Given the description of an element on the screen output the (x, y) to click on. 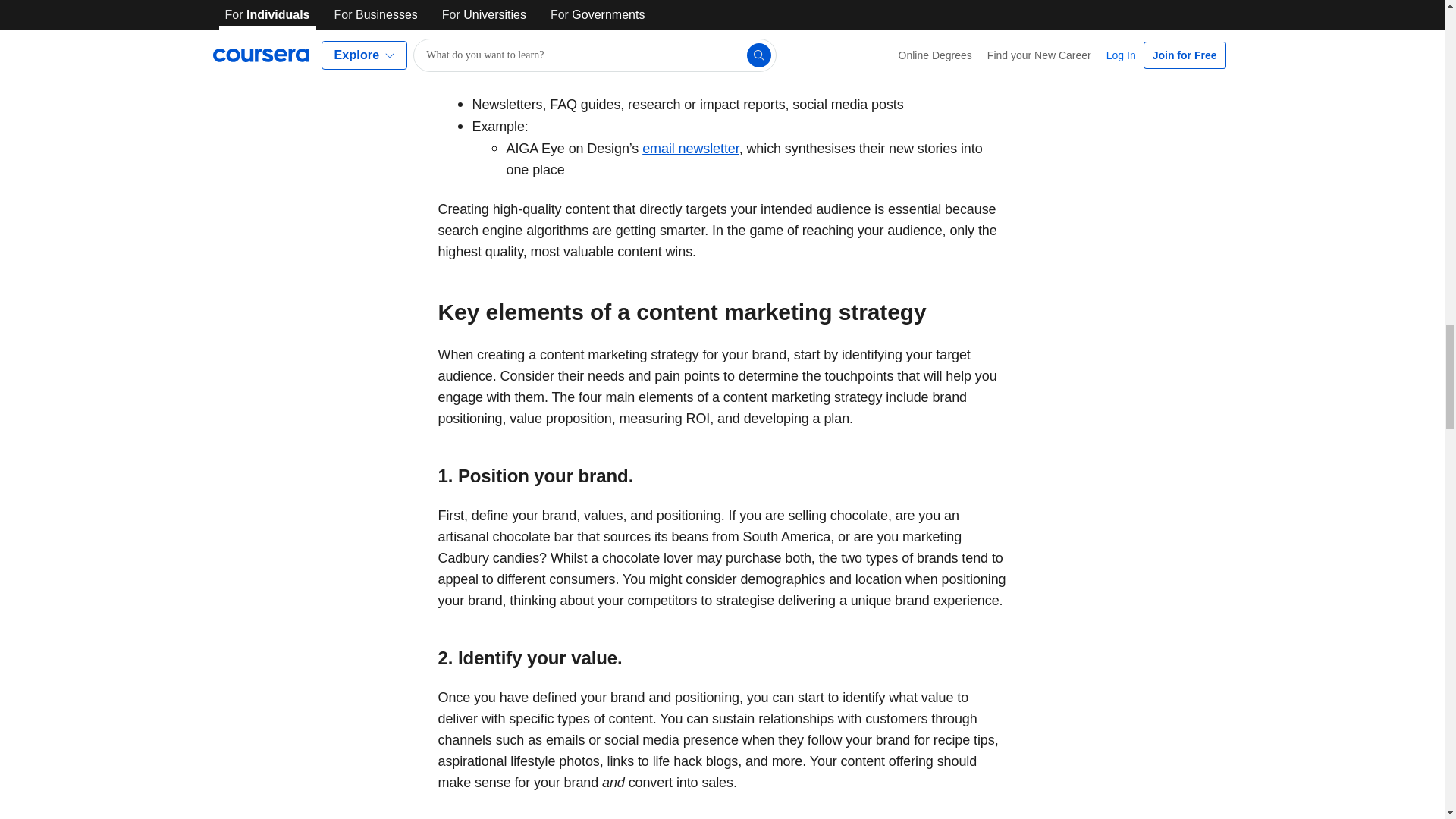
email newsletter (690, 148)
